Given the description of an element on the screen output the (x, y) to click on. 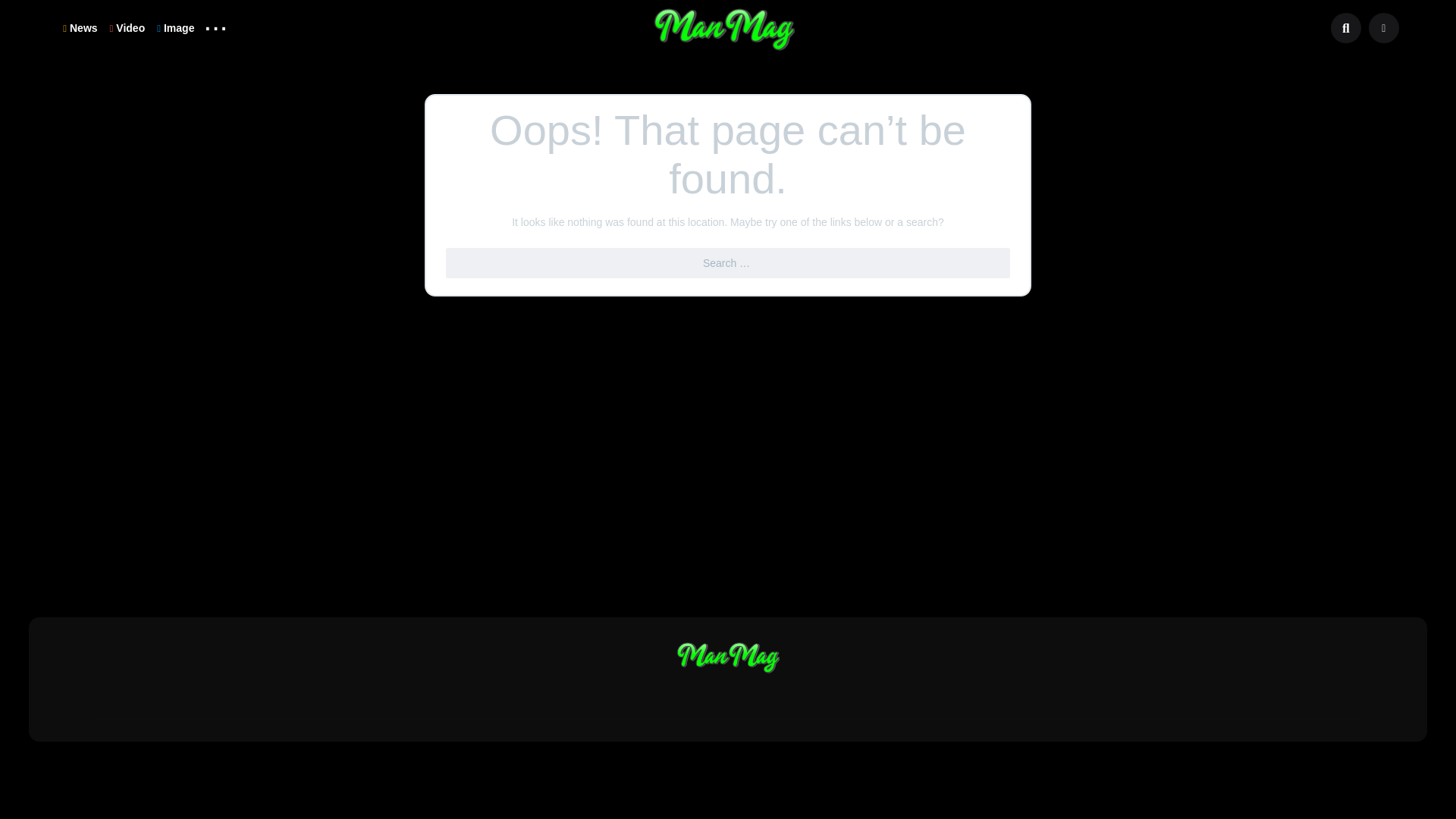
Search (21, 9)
Video (127, 27)
Image (175, 27)
News (79, 27)
